Given the description of an element on the screen output the (x, y) to click on. 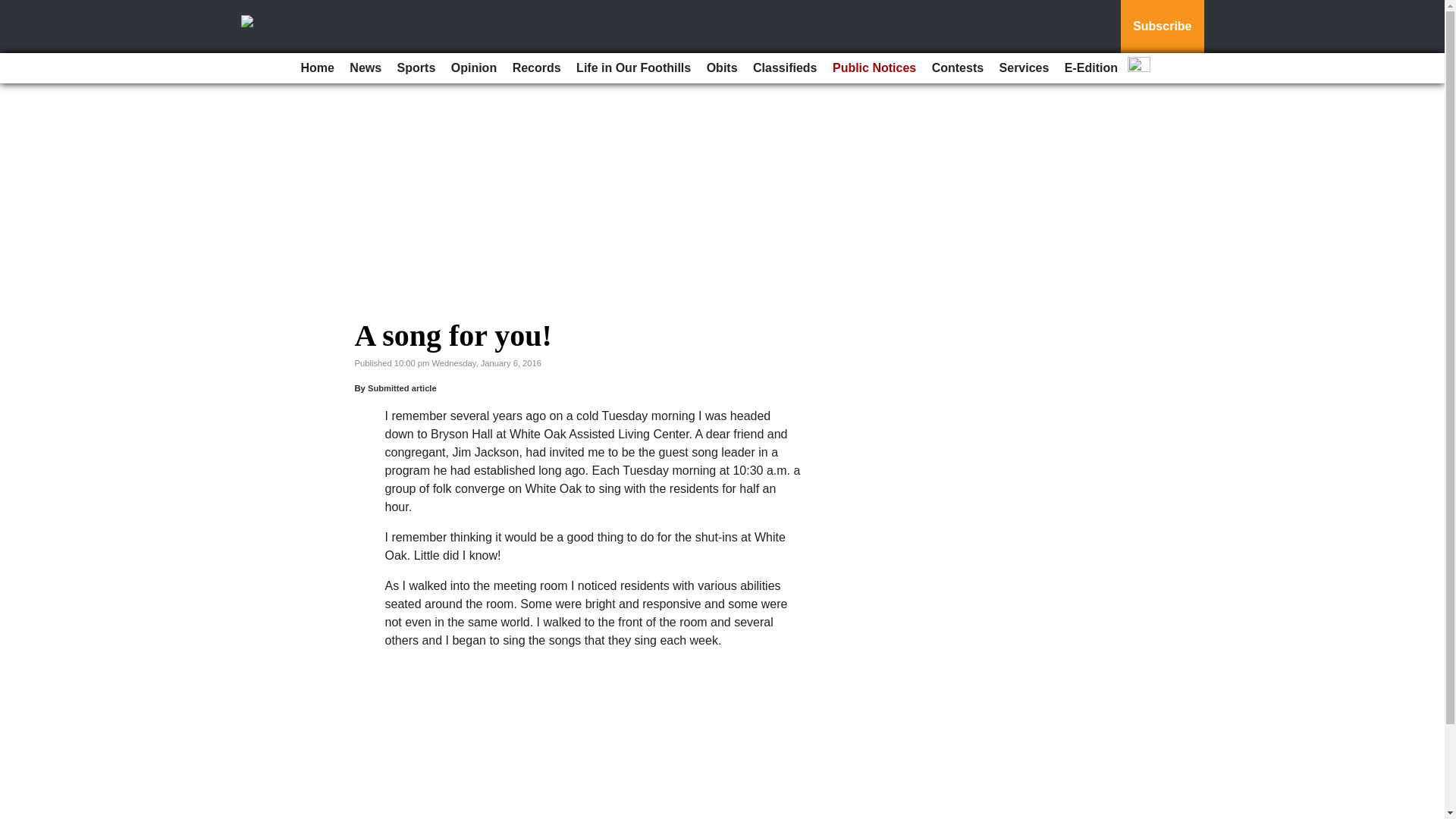
Classifieds (784, 68)
E-Edition (1091, 68)
Contests (958, 68)
Life in Our Foothills (633, 68)
News (365, 68)
Records (536, 68)
Obits (722, 68)
Sports (416, 68)
Subscribe (1162, 26)
Go (13, 9)
Opinion (473, 68)
Services (1023, 68)
Home (316, 68)
Submitted article (402, 388)
Public Notices (874, 68)
